Given the description of an element on the screen output the (x, y) to click on. 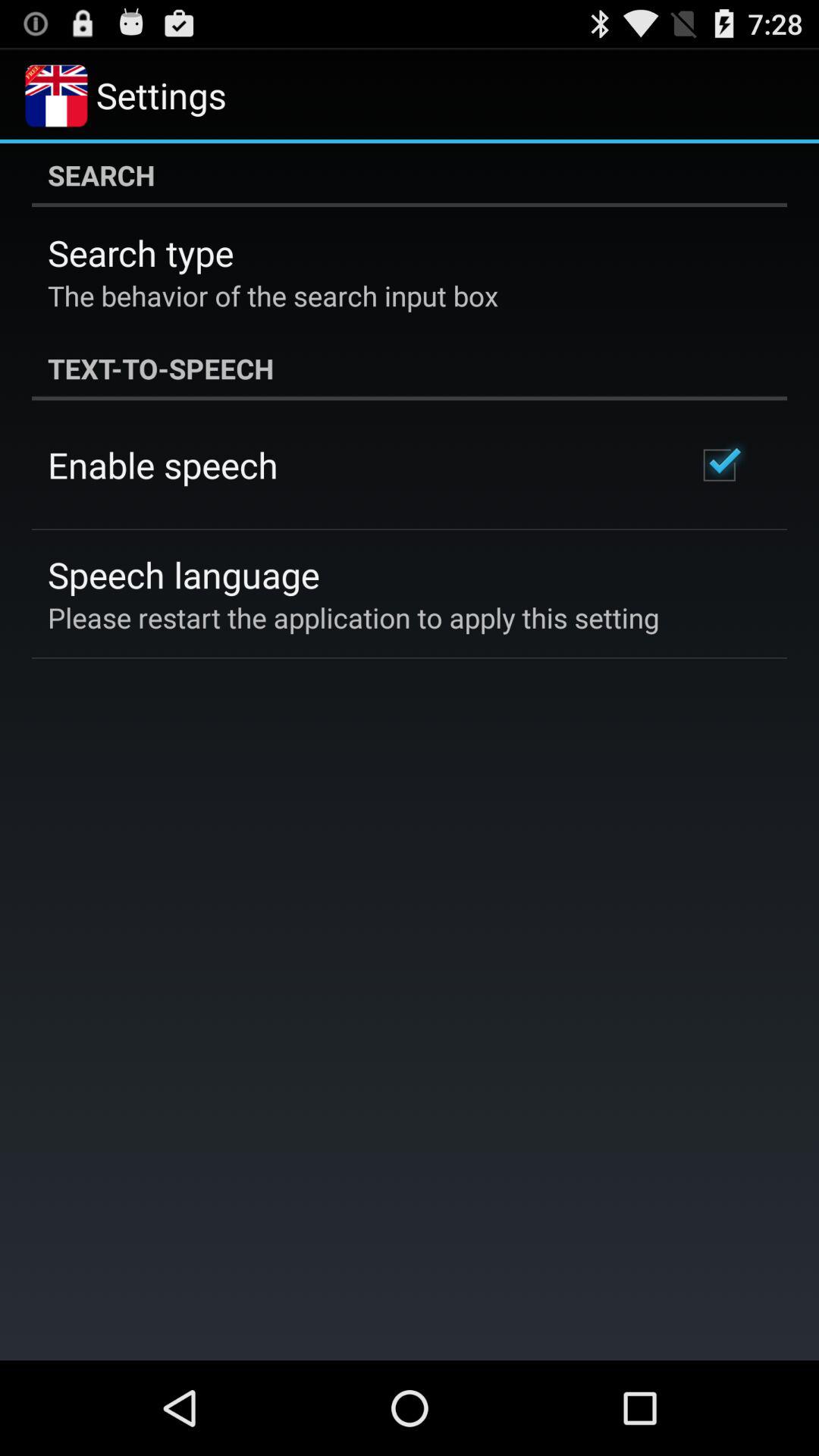
click icon below the behavior of icon (409, 368)
